Given the description of an element on the screen output the (x, y) to click on. 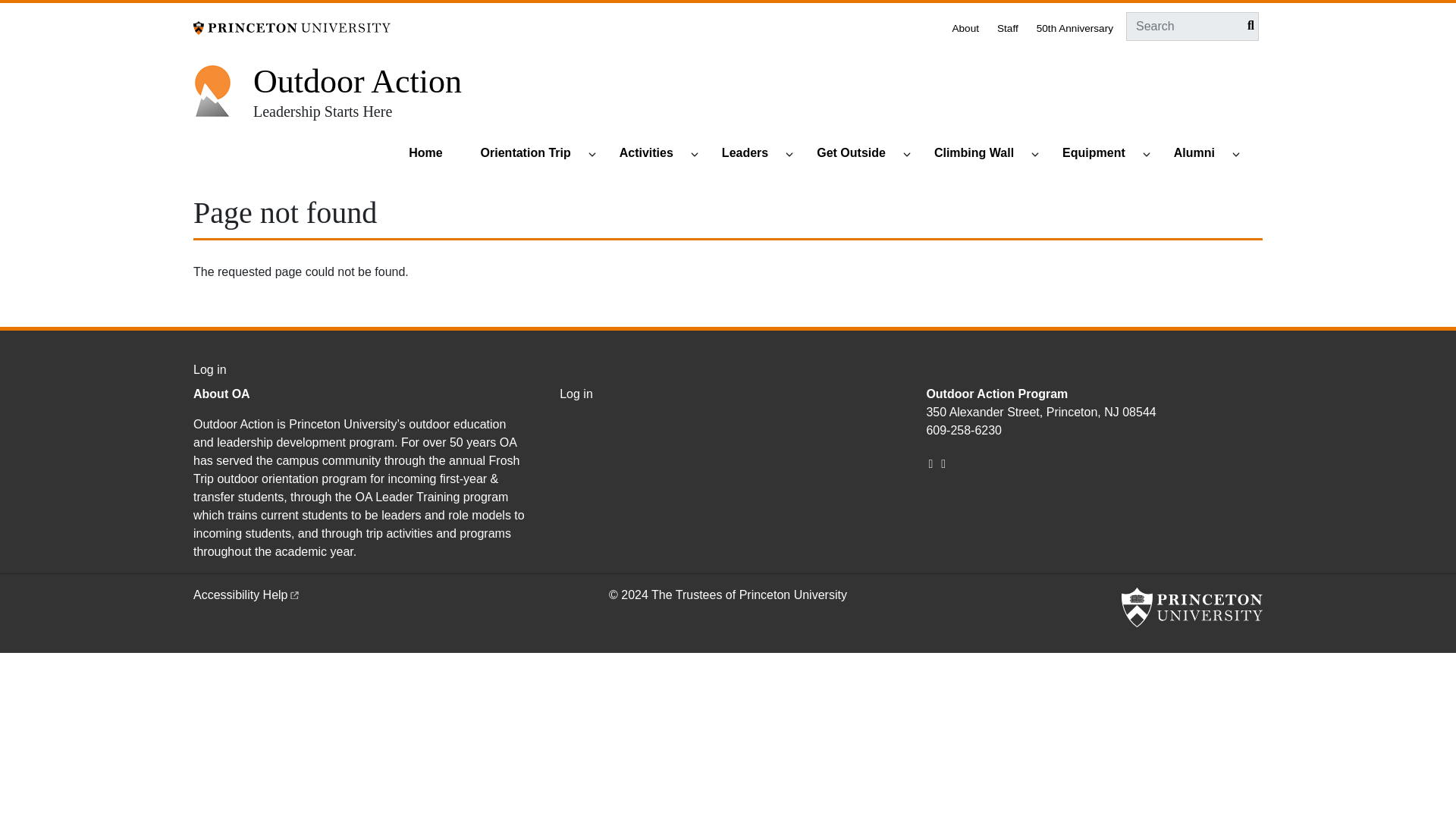
Princeton University (291, 26)
Activities (652, 154)
Submit (1246, 25)
Princeton University (1191, 607)
Home (432, 154)
Orientation Trip (532, 154)
Leaders (751, 154)
Home (357, 81)
Outdoor Action (357, 81)
Link is external (293, 592)
